Given the description of an element on the screen output the (x, y) to click on. 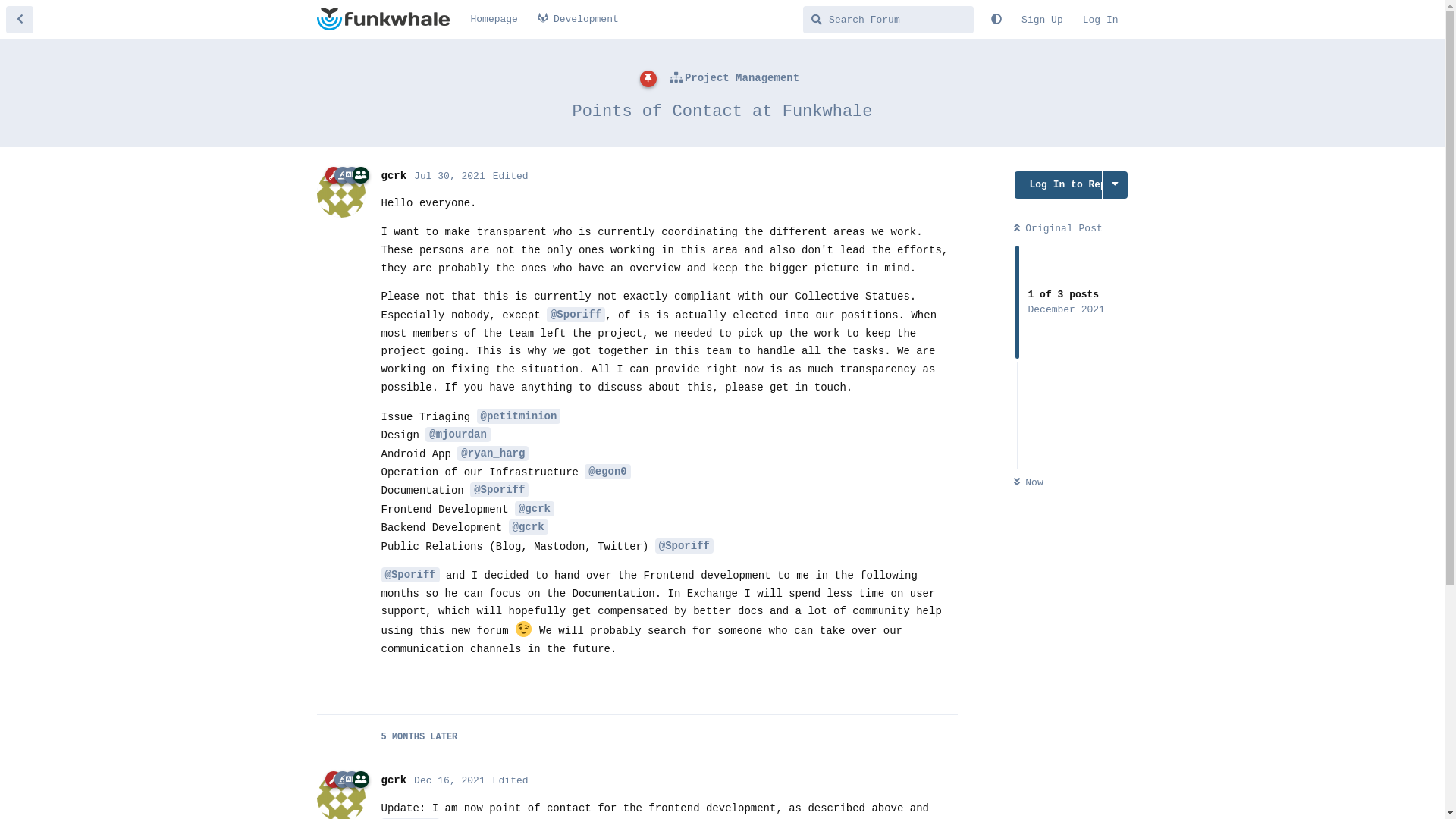
Development Element type: text (577, 19)
Now Element type: text (1027, 482)
Original Post Element type: text (1057, 228)
@Sporiff Element type: text (409, 574)
@egon0 Element type: text (607, 471)
@Sporiff Element type: text (575, 314)
Log In to Reply Element type: text (1058, 184)
Sign Up Element type: text (1042, 19)
@mjourdan Element type: text (457, 434)
Homepage Element type: text (494, 19)
gcrk Element type: text (393, 780)
@petitminion Element type: text (518, 415)
@gcrk Element type: text (534, 508)
@gcrk Element type: text (528, 526)
Dec 16, 2021 Element type: text (449, 780)
@Sporiff Element type: text (684, 545)
Log In Element type: text (1100, 19)
Project Management Element type: text (734, 78)
gcrk Element type: text (393, 175)
@ryan_harg Element type: text (492, 453)
Jul 30, 2021 Element type: text (449, 176)
@Sporiff Element type: text (499, 489)
